Given the description of an element on the screen output the (x, y) to click on. 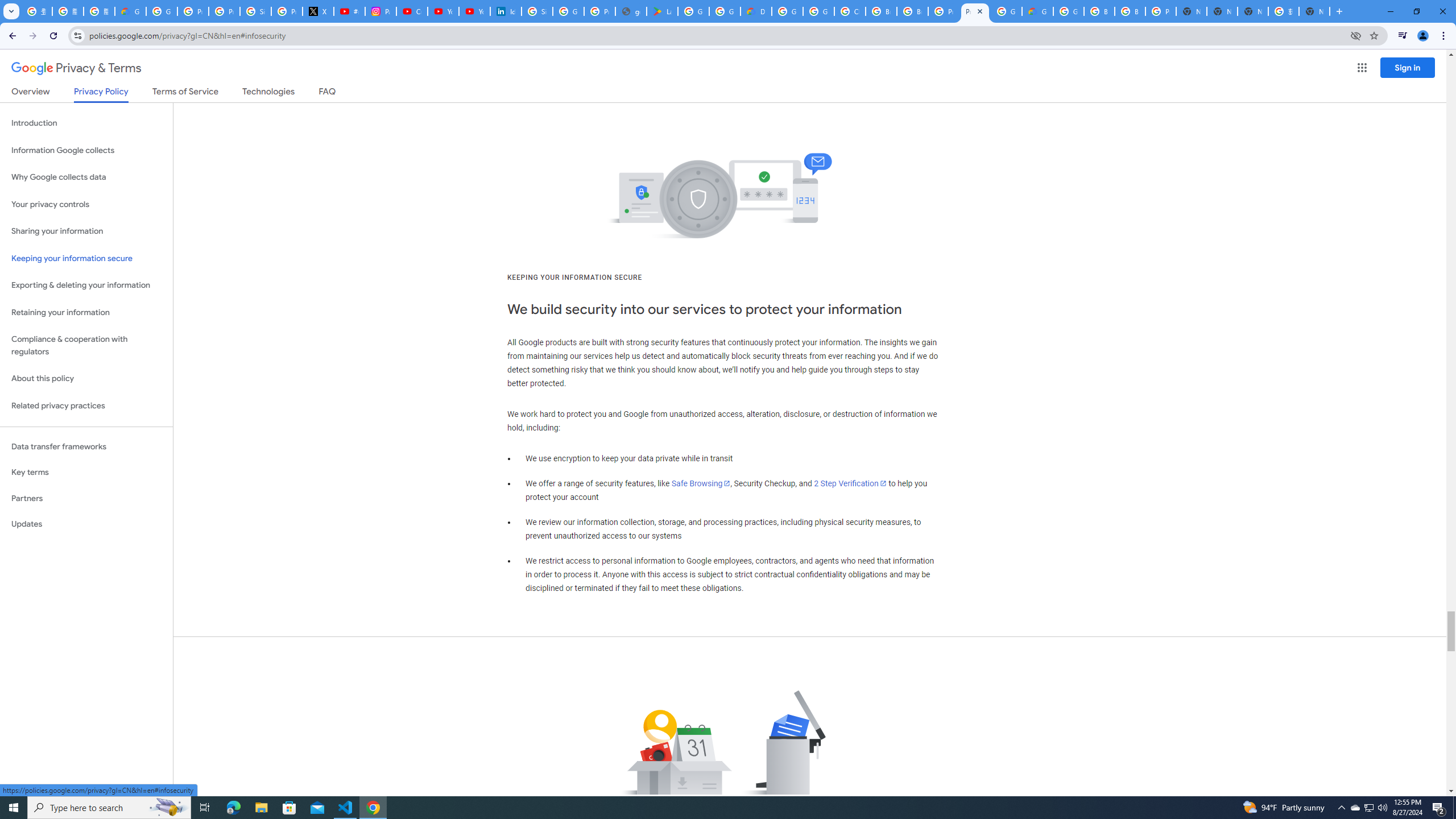
Compliance & cooperation with regulators (86, 345)
Retaining your information (86, 312)
Safe Browsing (700, 483)
About this policy (86, 379)
2 Step Verification (849, 483)
Exporting & deleting your information (86, 284)
New Tab (1190, 11)
Browse Chrome as a guest - Computer - Google Chrome Help (881, 11)
